Given the description of an element on the screen output the (x, y) to click on. 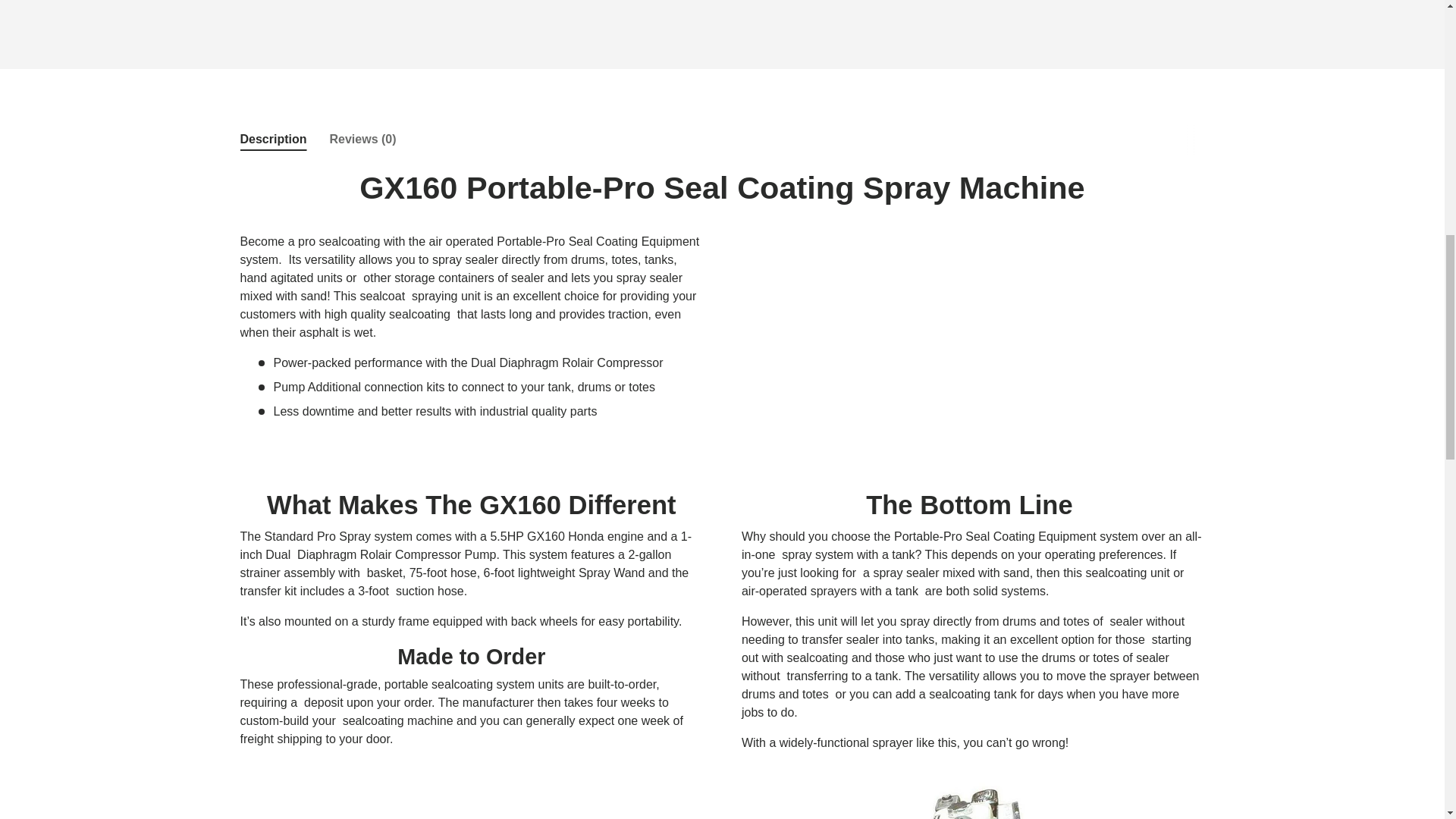
YouTube video player (972, 330)
